Given the description of an element on the screen output the (x, y) to click on. 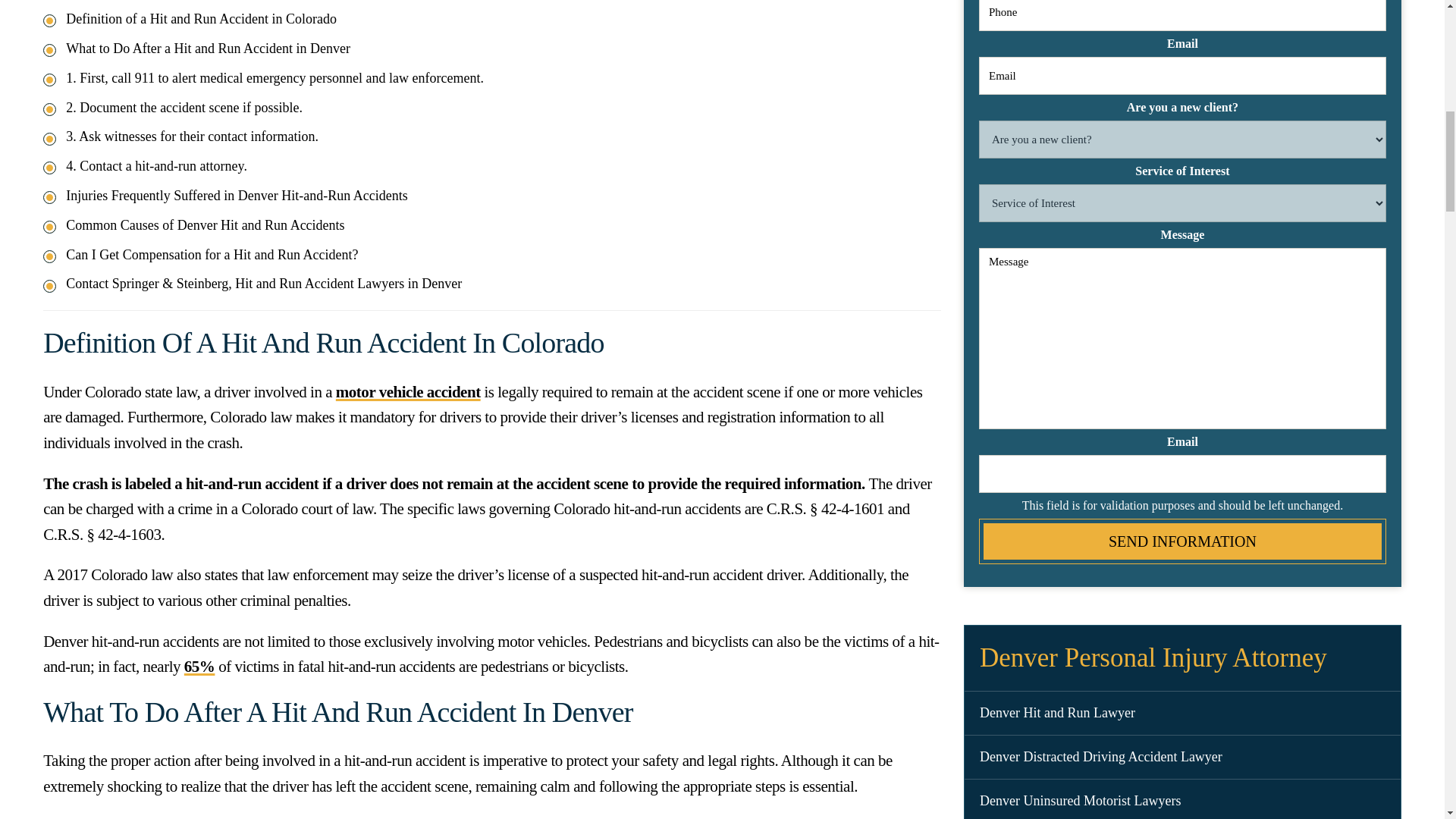
Common Causes of Denver Hit and Run Accidents (204, 224)
3. Ask witnesses for their contact information. (191, 136)
2. Document the accident scene if possible.  (183, 107)
Injuries Frequently Suffered in Denver Hit-and-Run Accidents (236, 195)
What to Do After a Hit and Run Accident in Denver (207, 48)
Definition of a Hit and Run Accident in Colorado (200, 18)
Send Information (1182, 541)
Can I Get Compensation for a Hit and Run Accident? (211, 254)
4. Contact a hit-and-run attorney.  (156, 165)
